Given the description of an element on the screen output the (x, y) to click on. 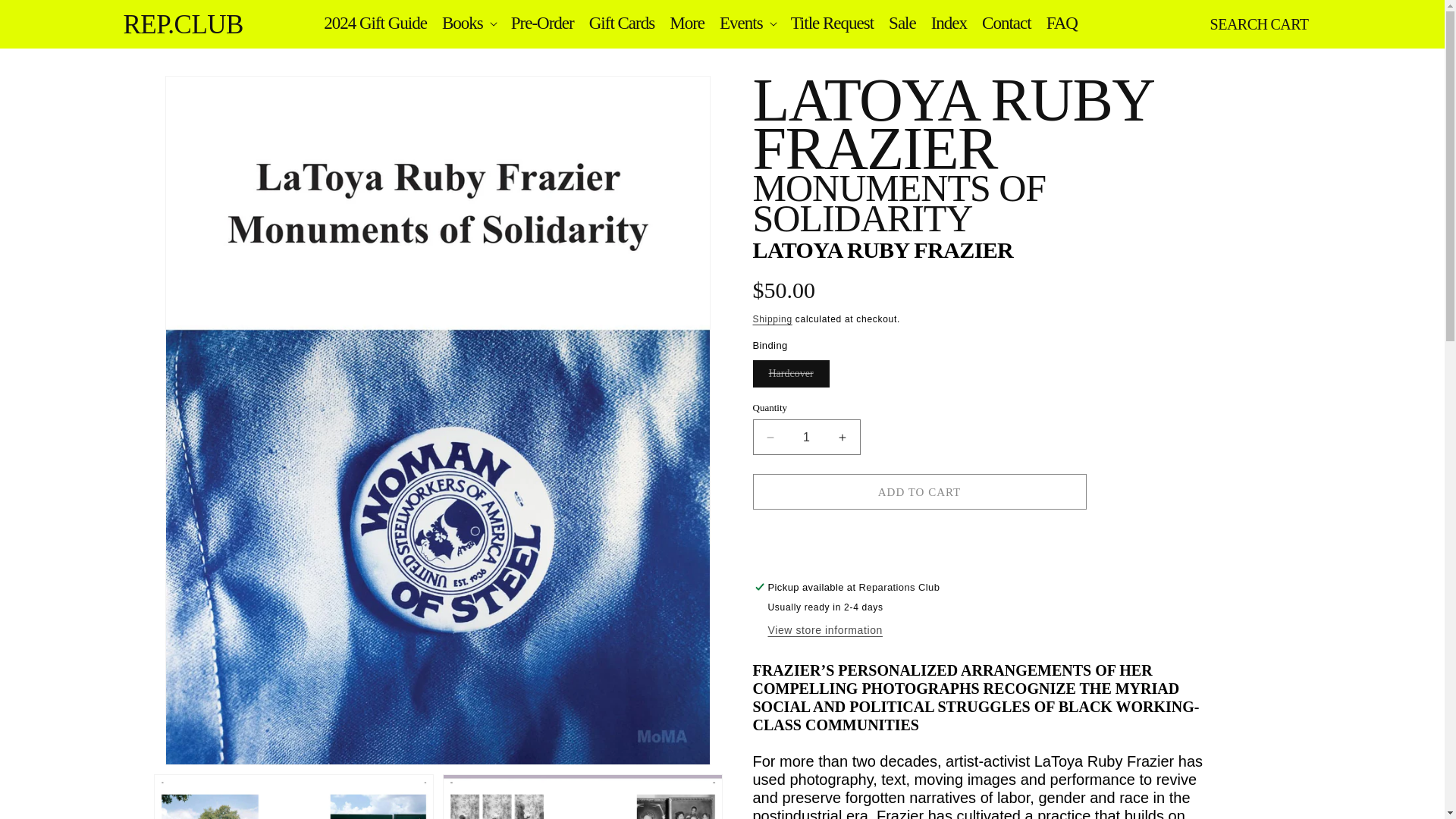
LaToya Ruby Frazier (882, 249)
Skip to content (45, 17)
1 (806, 437)
